Given the description of an element on the screen output the (x, y) to click on. 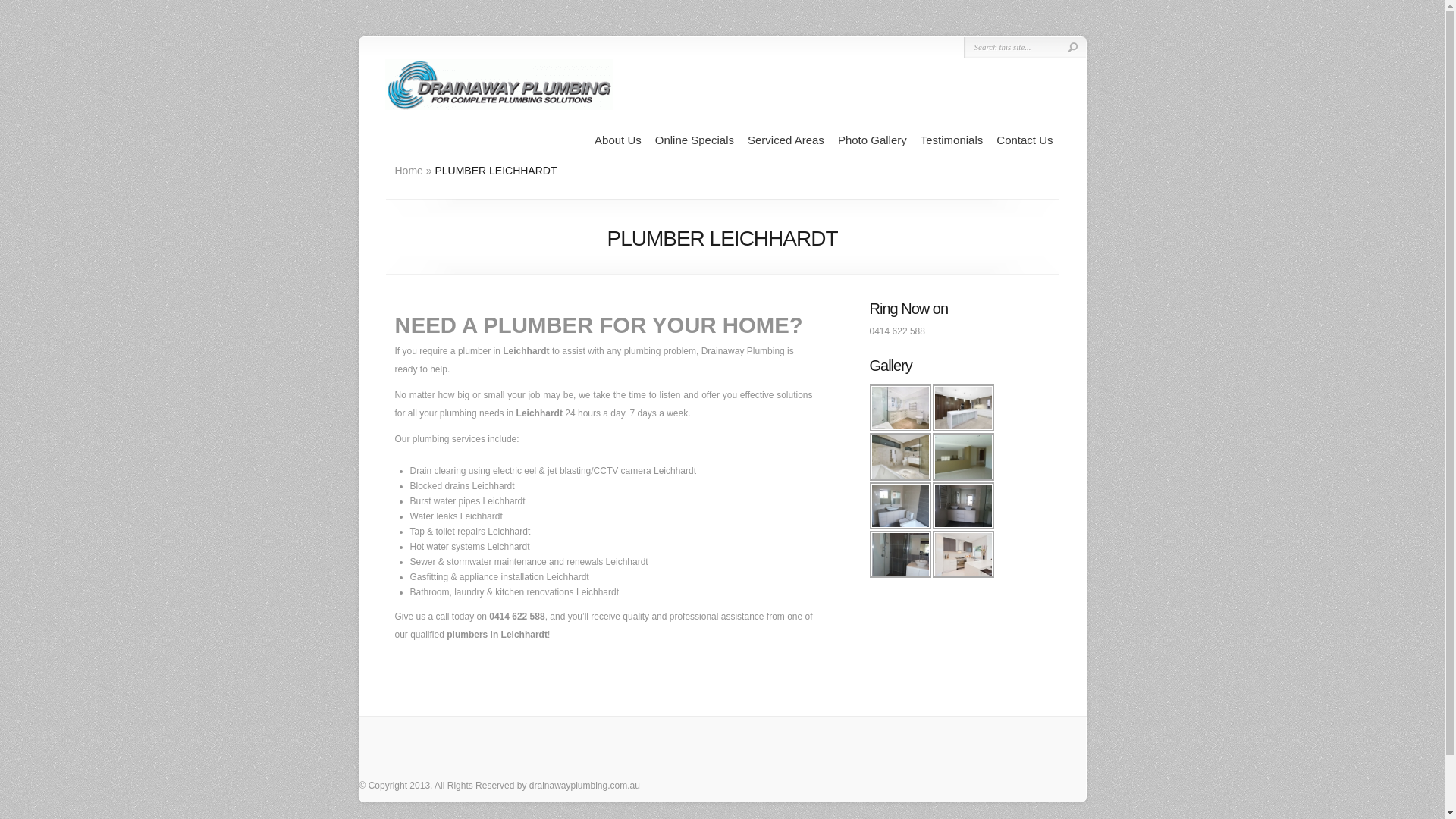
Photo Gallery Element type: text (871, 139)
Home Element type: text (408, 170)
dsc3824 Element type: hover (899, 456)
dsc0002-1 Element type: hover (899, 407)
picture-239 Element type: hover (899, 553)
Online Specials Element type: text (694, 139)
About Us Element type: text (617, 139)
p1000432 Element type: hover (963, 456)
p1000449 Element type: hover (963, 505)
p1000441 Element type: hover (899, 505)
Testimonials Element type: text (951, 139)
Serviced Areas Element type: text (785, 139)
Contact Us Element type: text (1024, 139)
web_03 Element type: hover (963, 553)
dsc0213 Element type: hover (963, 407)
